Given the description of an element on the screen output the (x, y) to click on. 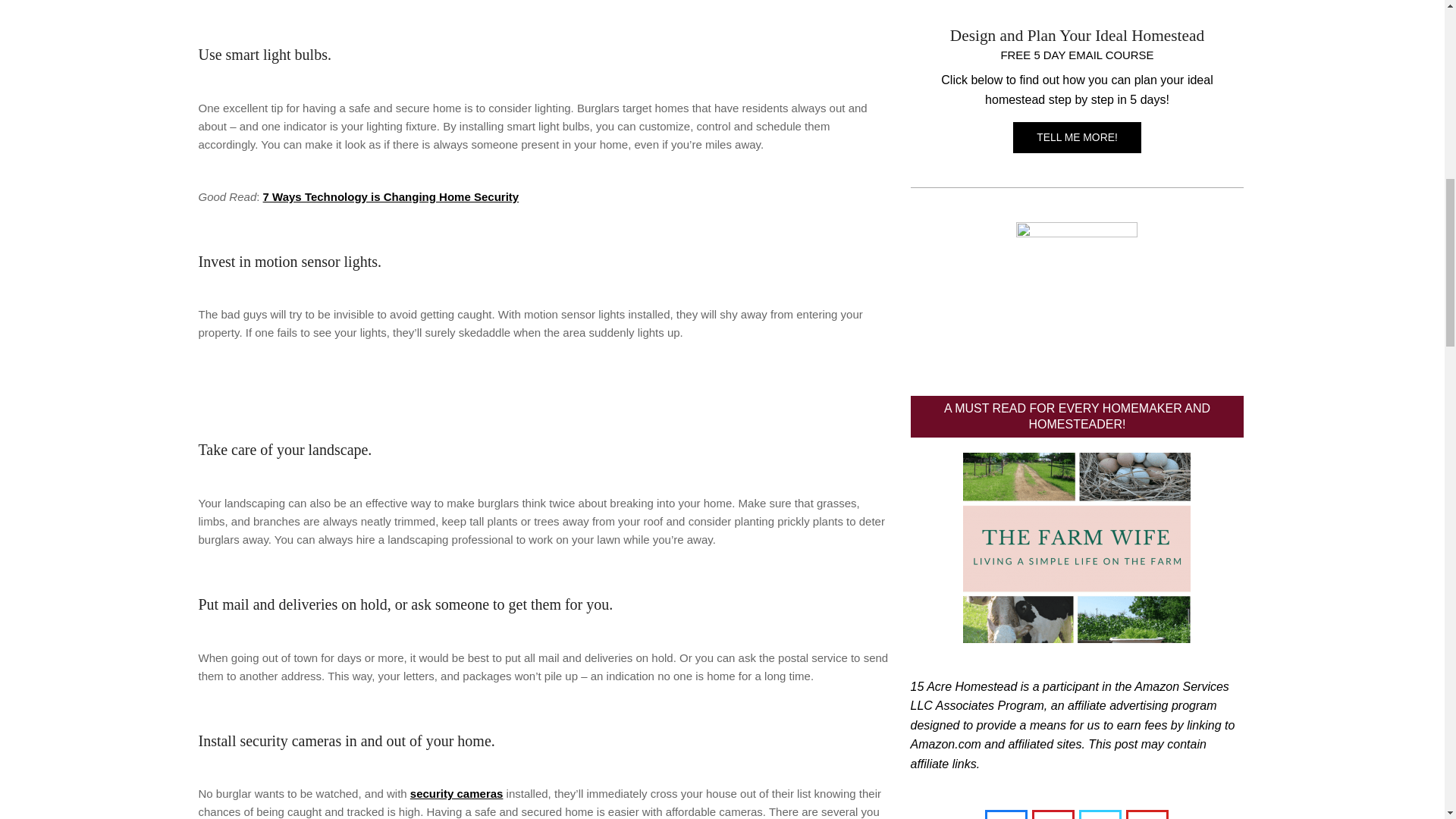
security cameras (456, 793)
7 Ways Technology is Changing Home Security (391, 196)
A must read for every homemaker and homesteader! (1076, 547)
